Given the description of an element on the screen output the (x, y) to click on. 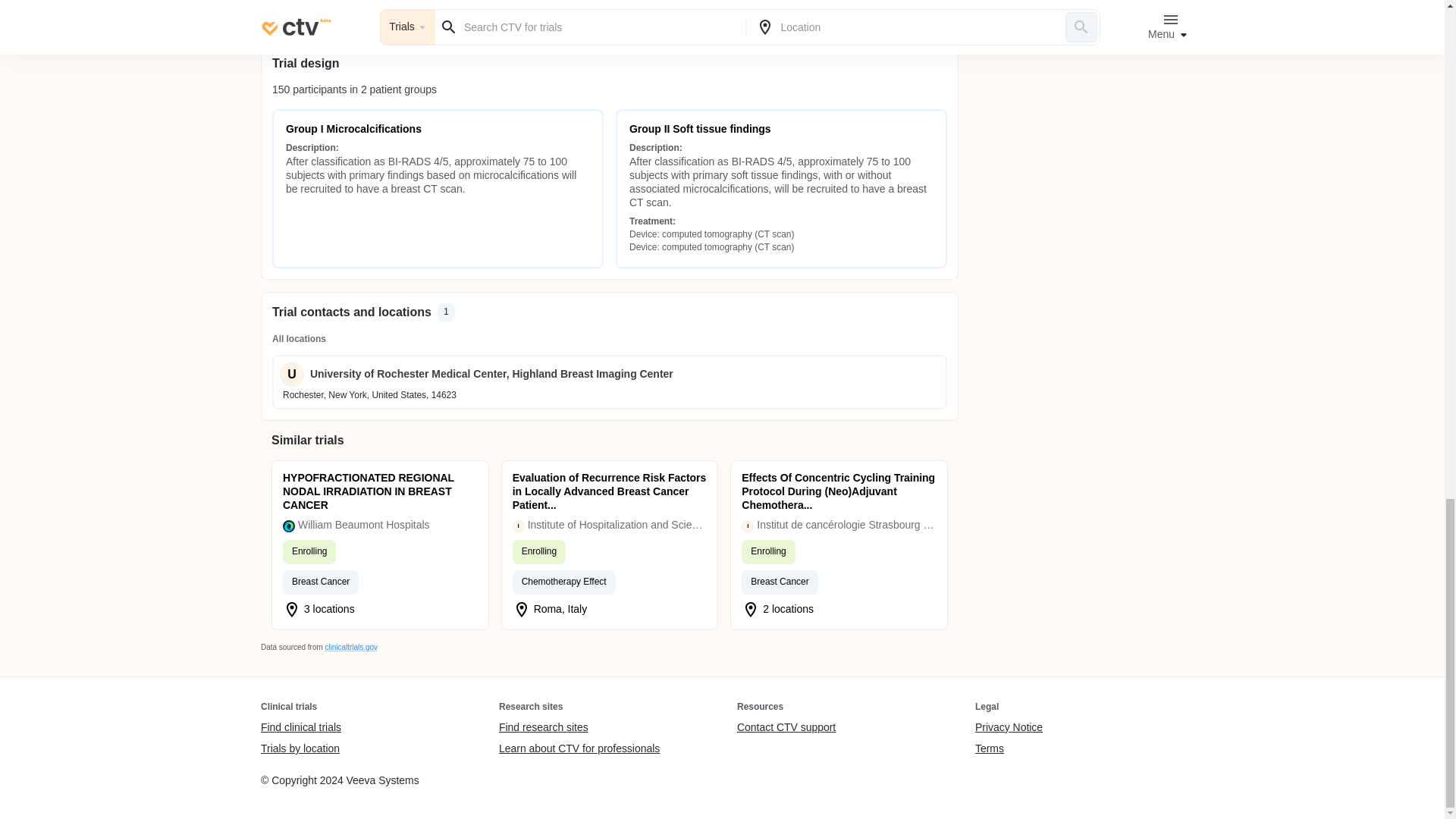
Privacy Notice (1008, 727)
Find clinical trials (300, 727)
clinicaltrials.gov (350, 646)
Find research sites (579, 727)
Learn about CTV for professionals (579, 748)
Contact CTV support (785, 727)
Terms (1008, 748)
Trials by location (300, 748)
